Given the description of an element on the screen output the (x, y) to click on. 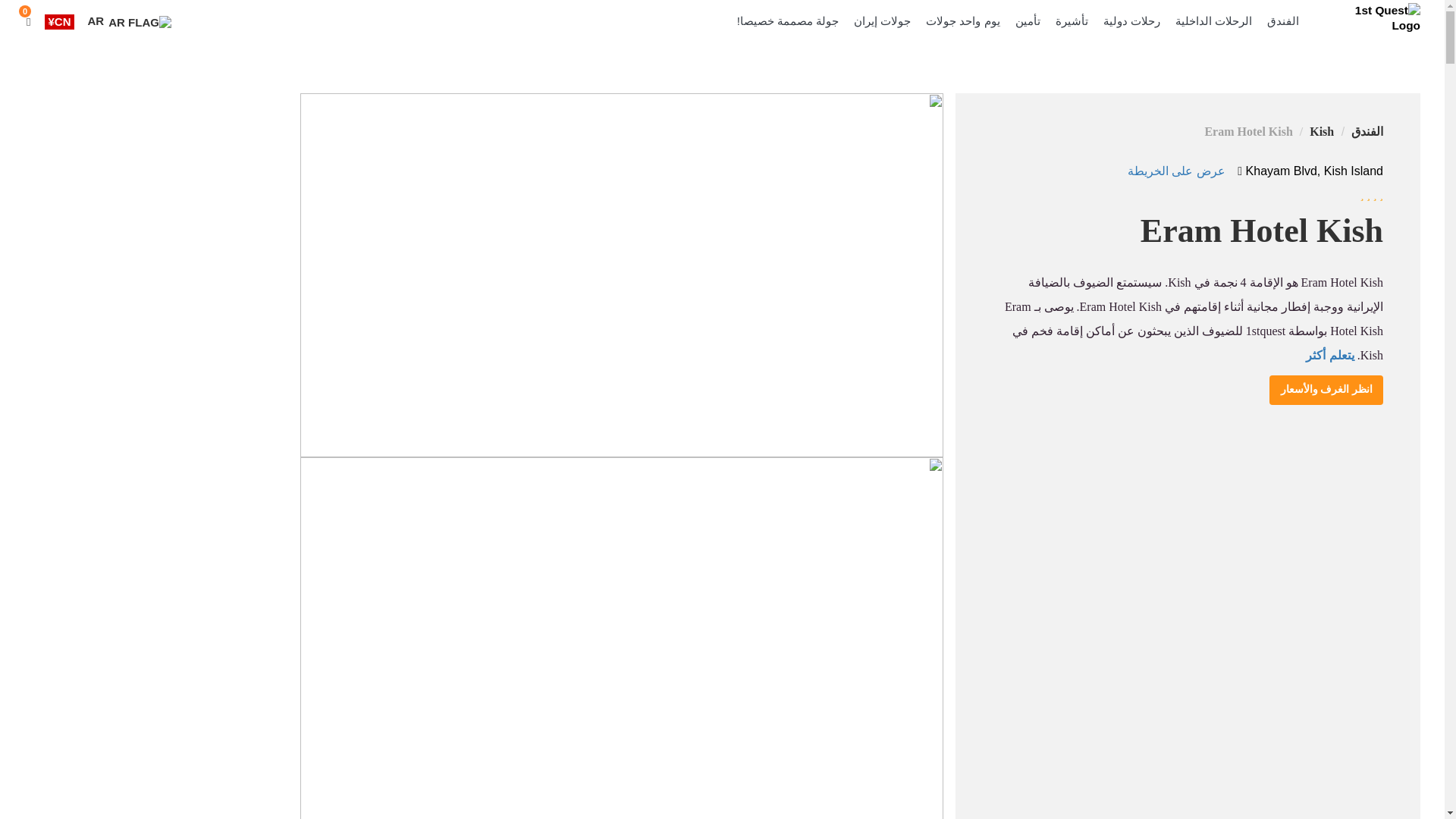
Iran hotels (1282, 21)
Iran tours (882, 21)
AR (128, 21)
Iran domestic flights (1213, 21)
Iran Experiences (962, 21)
International Flights for Any route (1131, 21)
Iran visa (1071, 21)
